Given the description of an element on the screen output the (x, y) to click on. 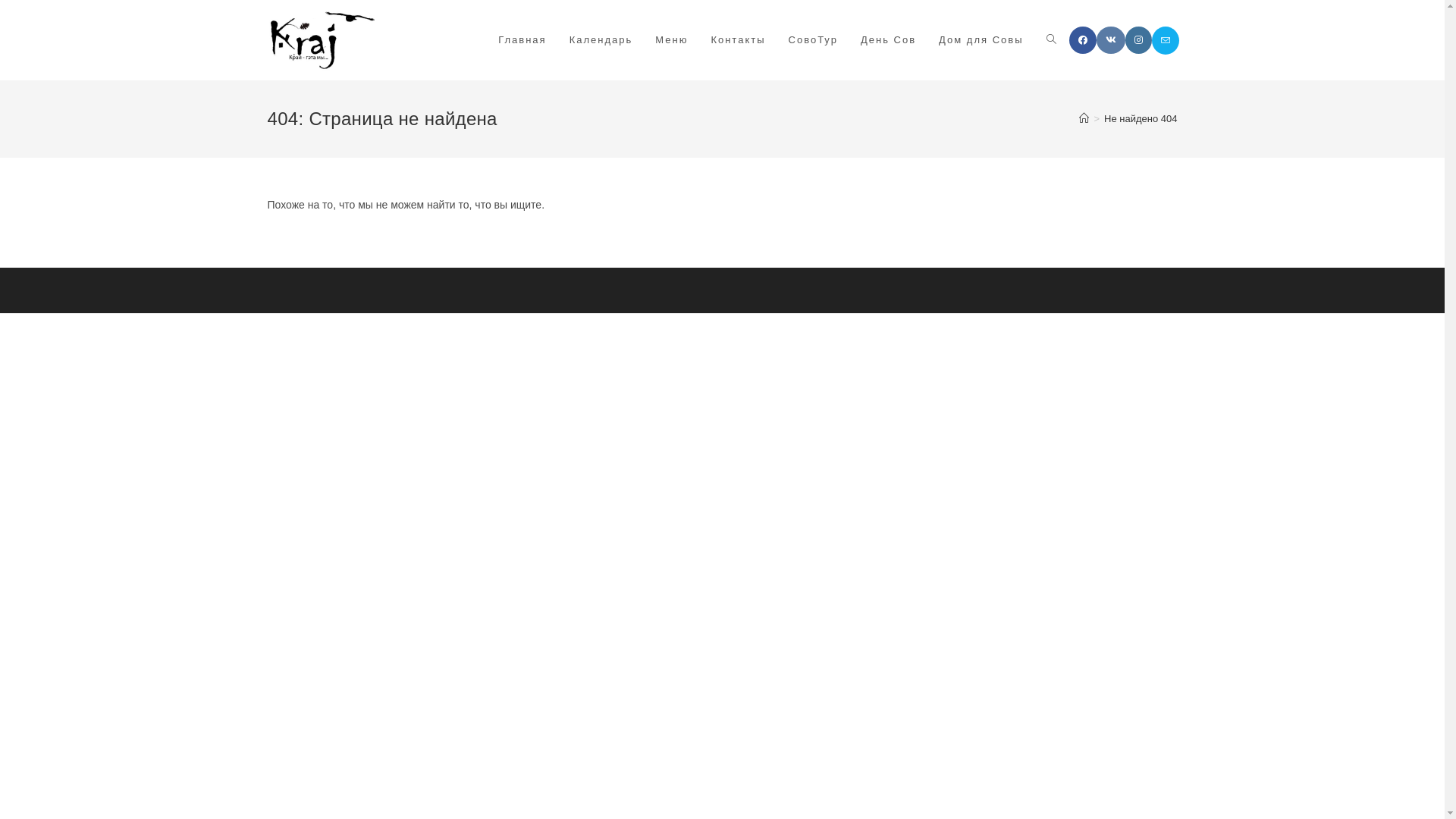
Toggle website search Element type: text (1050, 40)
